Given the description of an element on the screen output the (x, y) to click on. 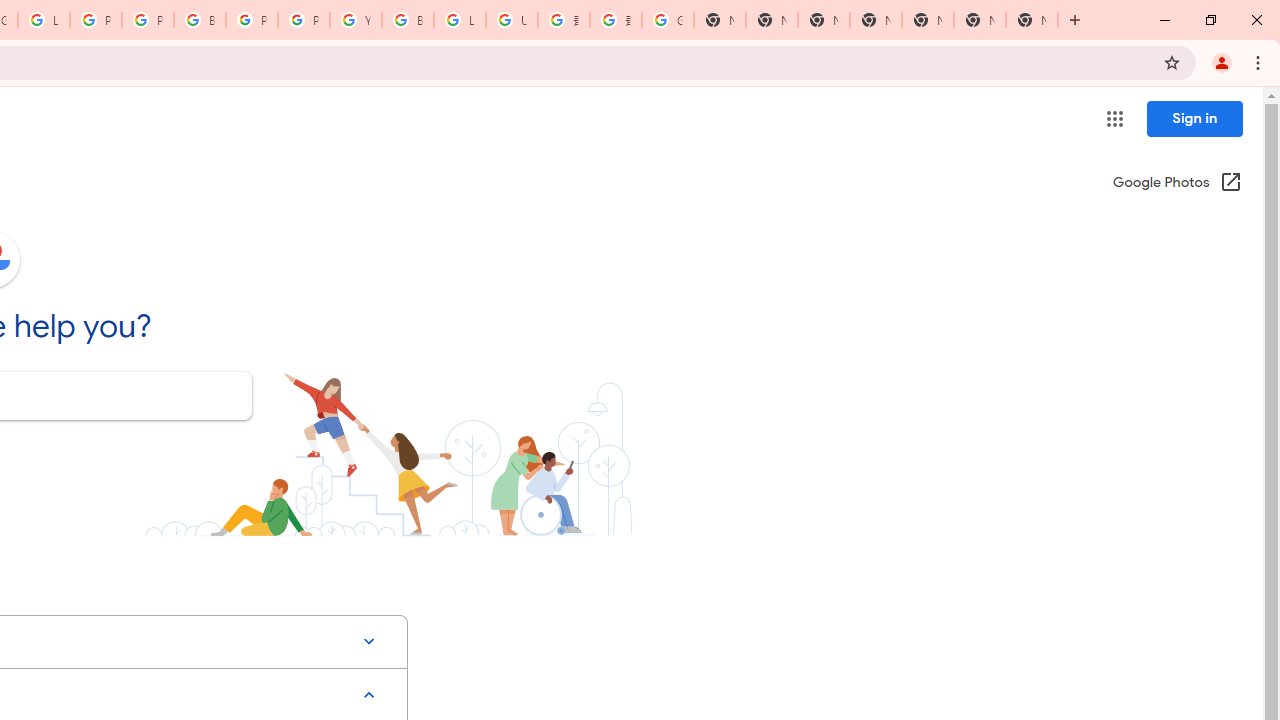
Google Photos (Open in a new window) (1177, 183)
New Tab (1032, 20)
YouTube (355, 20)
Google Images (667, 20)
